Given the description of an element on the screen output the (x, y) to click on. 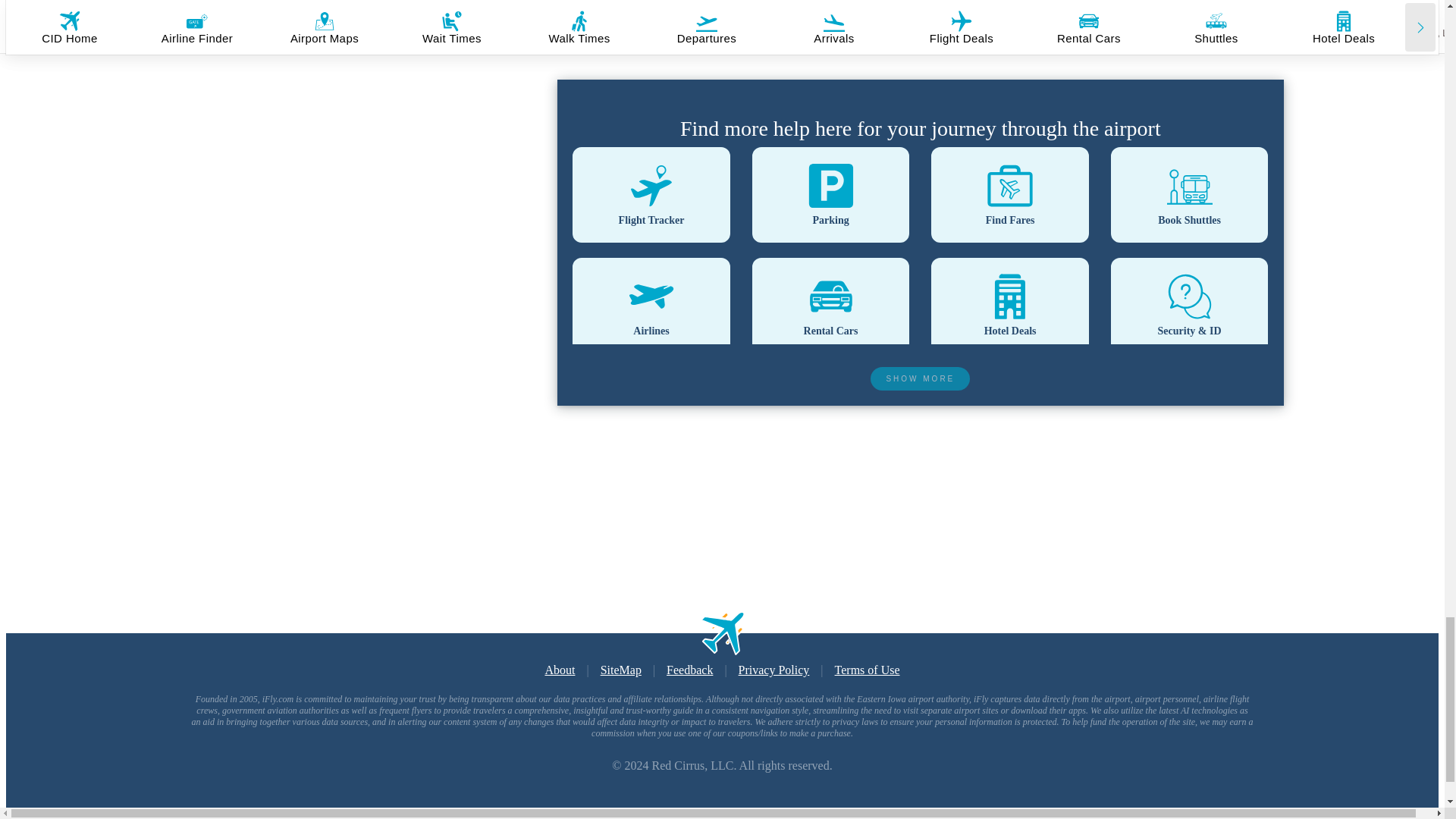
show more (919, 378)
